Given the description of an element on the screen output the (x, y) to click on. 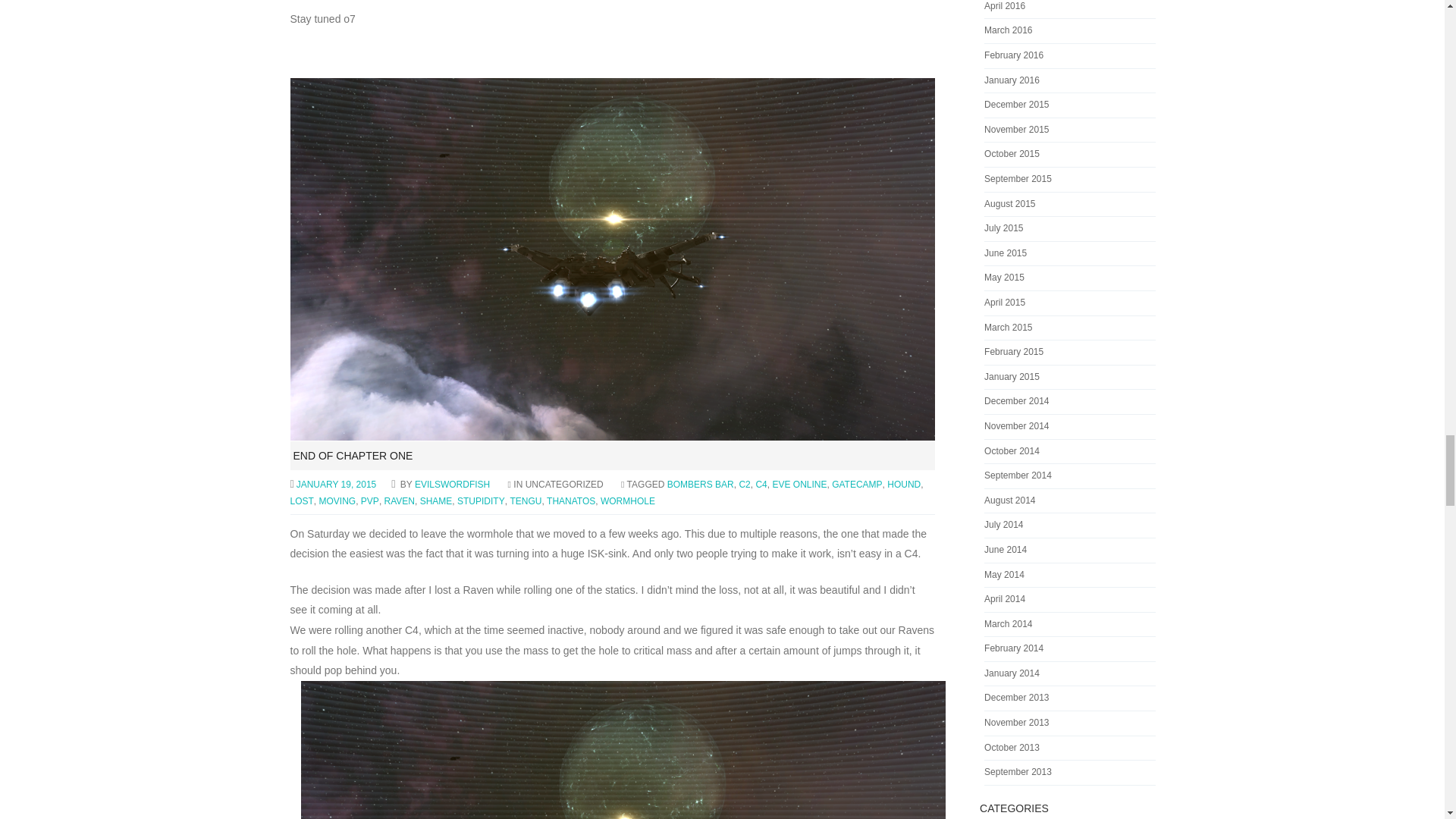
Permalink to End of chapter one (352, 455)
